Given the description of an element on the screen output the (x, y) to click on. 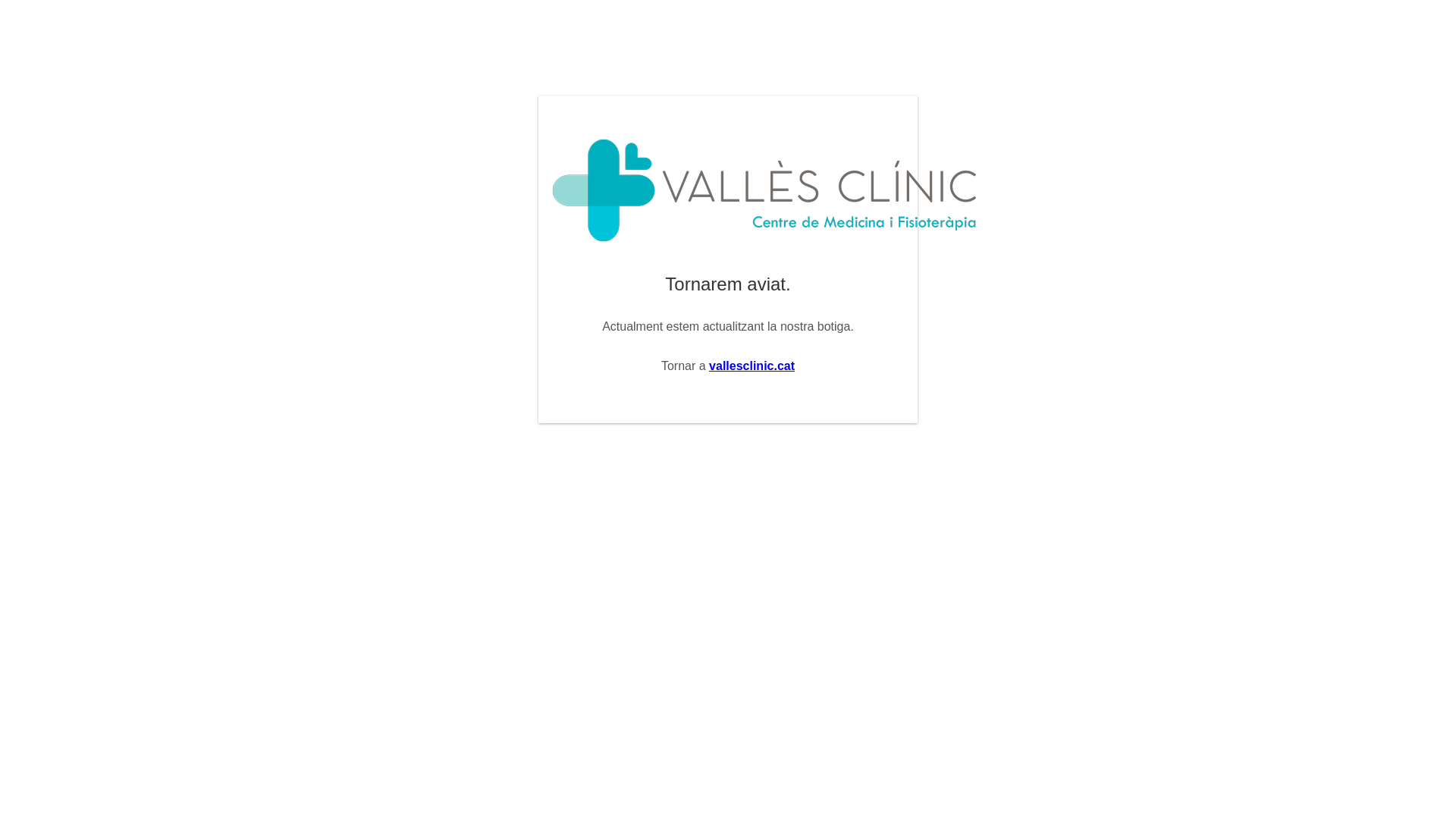
vallesclinic.cat Element type: text (751, 365)
